Given the description of an element on the screen output the (x, y) to click on. 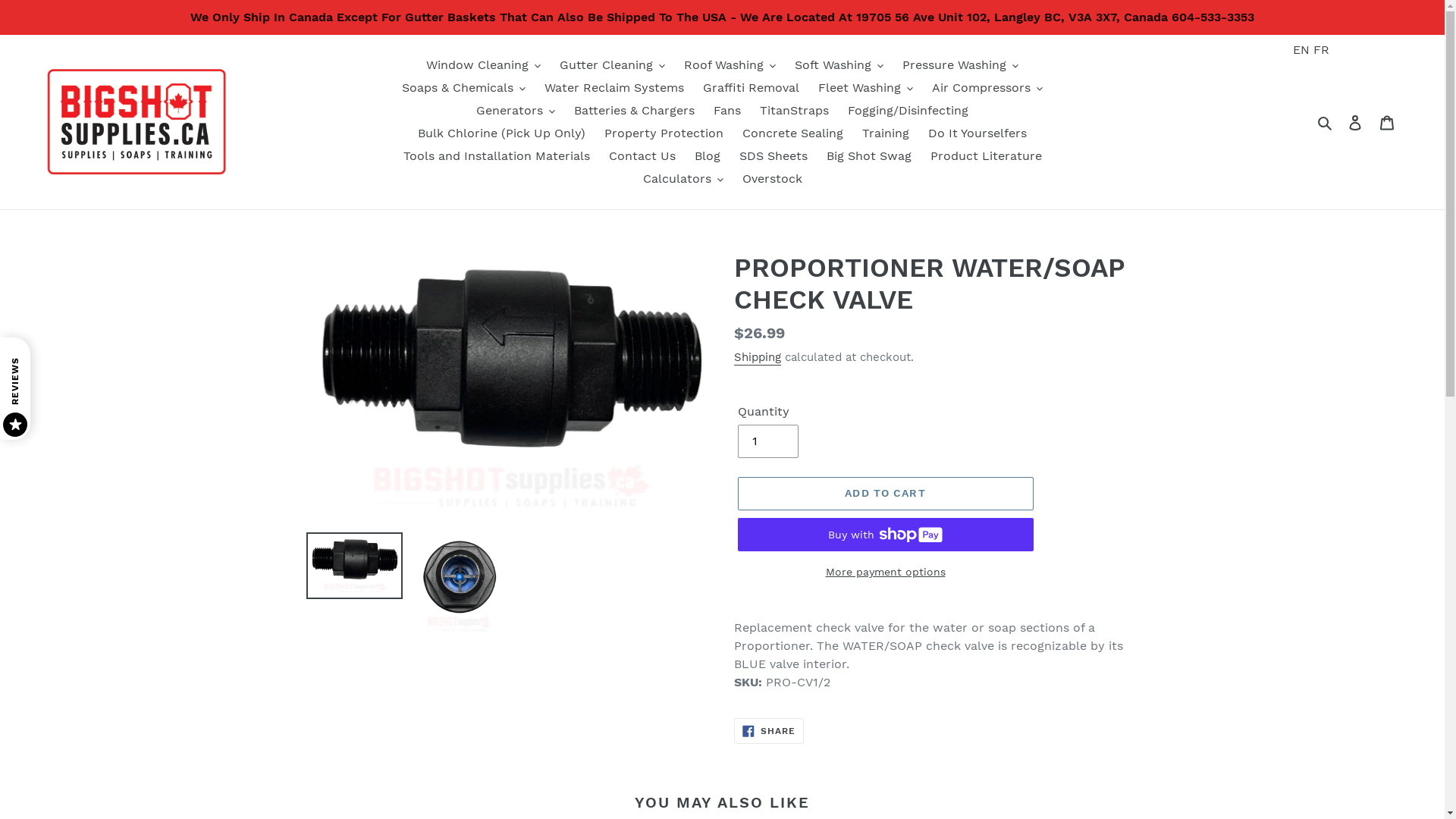
Fogging/Disinfecting Element type: text (907, 110)
Overstock Element type: text (771, 178)
ADD TO CART Element type: text (884, 493)
Contact Us Element type: text (641, 155)
Air Compressors Element type: text (987, 87)
Blog Element type: text (707, 155)
Pressure Washing Element type: text (960, 64)
EN Element type: text (1300, 49)
Graffiti Removal Element type: text (750, 87)
SDS Sheets Element type: text (772, 155)
REVIEWS Element type: text (51, 352)
Fleet Washing Element type: text (865, 87)
Property Protection Element type: text (663, 133)
Fans Element type: text (727, 110)
Window Cleaning Element type: text (483, 64)
Water Reclaim Systems Element type: text (613, 87)
TitanStraps Element type: text (794, 110)
SHARE
SHARE ON FACEBOOK Element type: text (769, 730)
Training Element type: text (885, 133)
Soaps & Chemicals Element type: text (463, 87)
Tools and Installation Materials Element type: text (496, 155)
More payment options Element type: text (884, 571)
Batteries & Chargers Element type: text (634, 110)
Gutter Cleaning Element type: text (612, 64)
Big Shot Swag Element type: text (869, 155)
Generators Element type: text (515, 110)
Product Literature Element type: text (985, 155)
Calculators Element type: text (683, 178)
Search Element type: text (1325, 121)
Soft Washing Element type: text (839, 64)
FR Element type: text (1321, 49)
Roof Washing Element type: text (729, 64)
Concrete Sealing Element type: text (792, 133)
Cart Element type: text (1386, 121)
Shipping Element type: text (757, 357)
Do It Yourselfers Element type: text (977, 133)
Bulk Chlorine (Pick Up Only) Element type: text (501, 133)
